Given the description of an element on the screen output the (x, y) to click on. 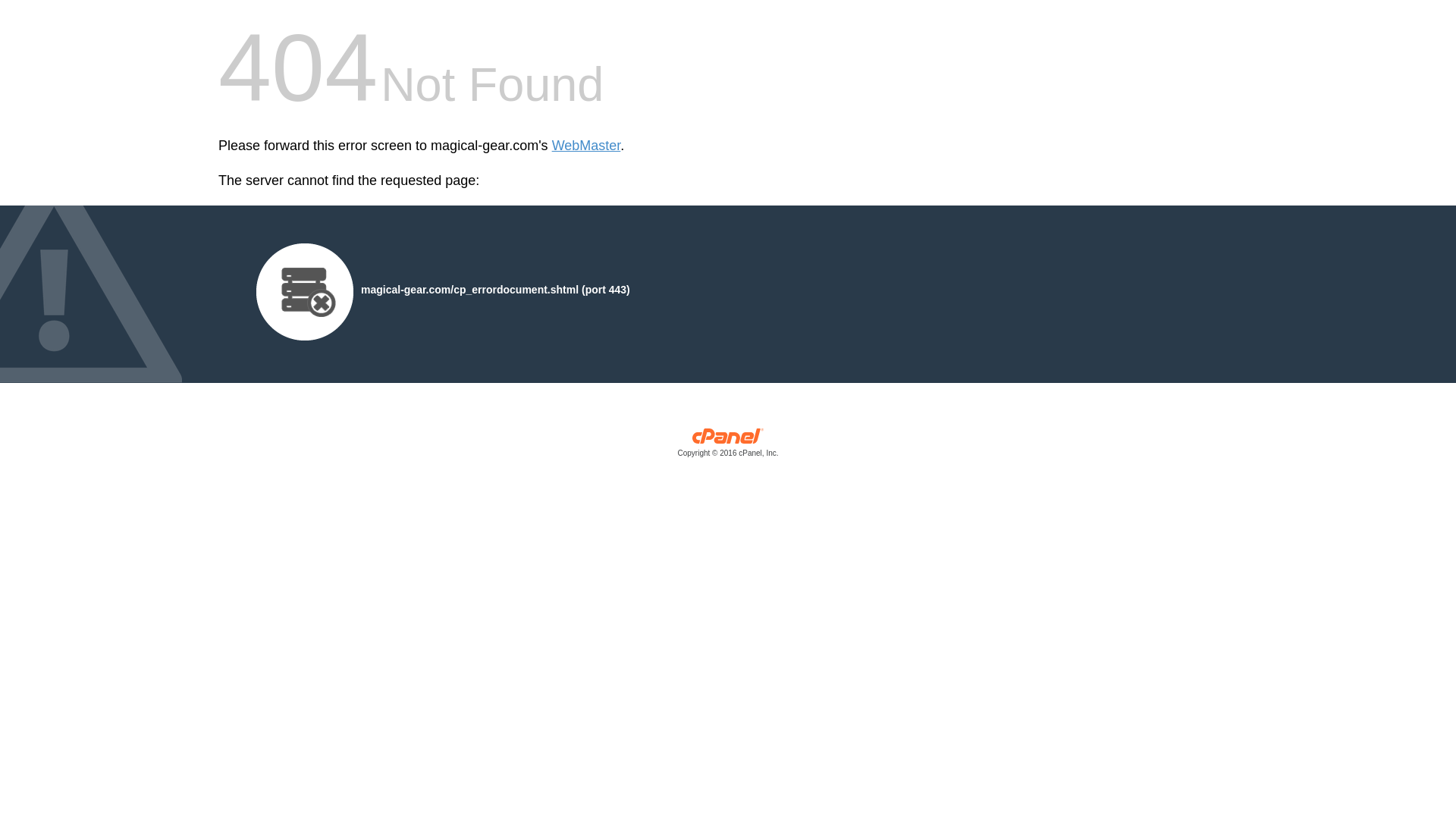
WebMaster (586, 145)
cPanel, Inc. (727, 446)
